Given the description of an element on the screen output the (x, y) to click on. 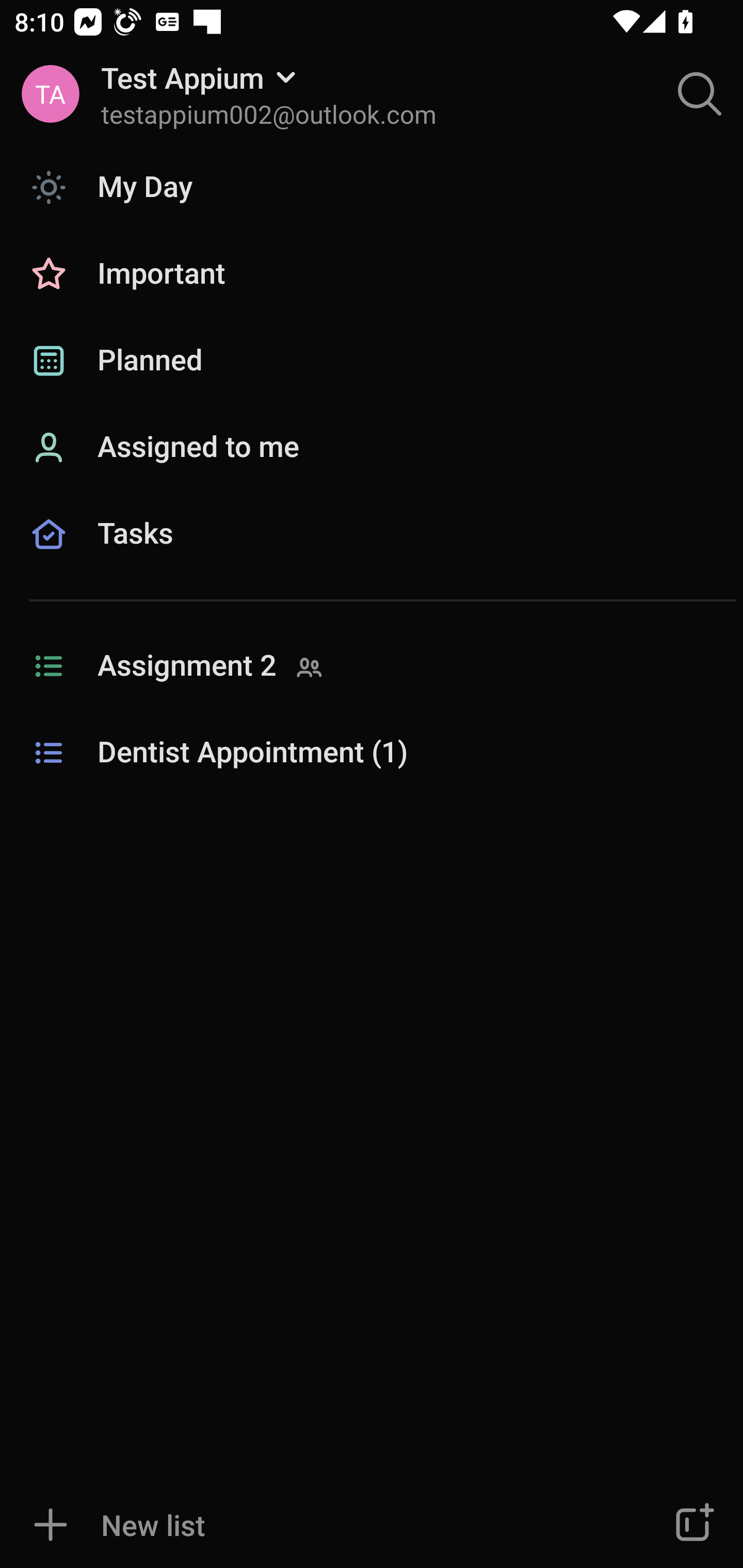
Enter search (699, 93)
My Day, 0 tasks My Day (371, 187)
Important, 0 tasks Important (371, 274)
Planned, 0 tasks Planned (371, 361)
Assigned to me, 0 tasks Assigned to me (371, 447)
Tasks (371, 556)
Shared list. Assignment 2 Assignment 2 Shared list (371, 666)
Dentist Appointment (1) (371, 753)
New list (312, 1524)
Create group (692, 1524)
